Given the description of an element on the screen output the (x, y) to click on. 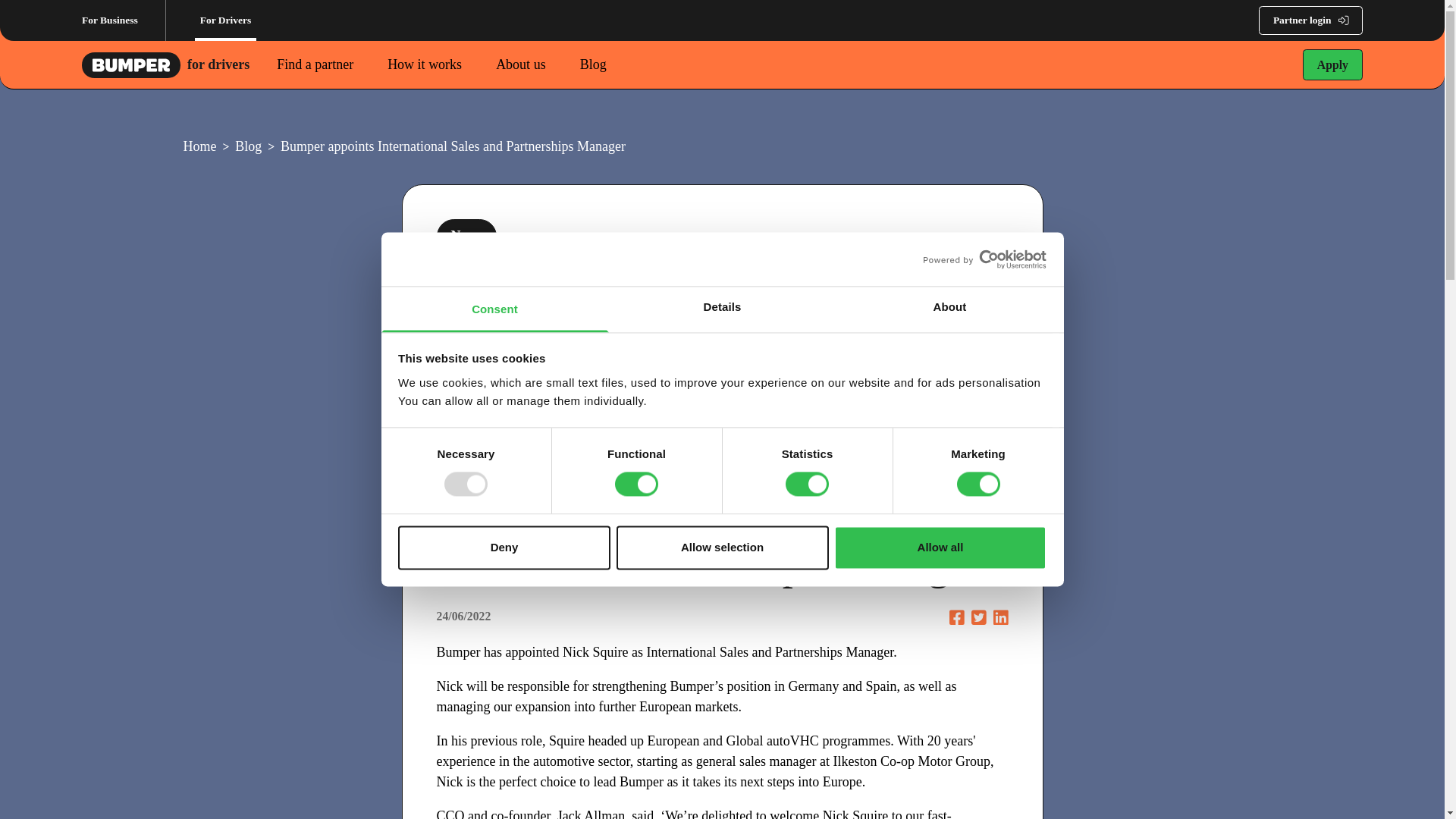
About (948, 309)
Details (721, 309)
Consent (494, 309)
